Given the description of an element on the screen output the (x, y) to click on. 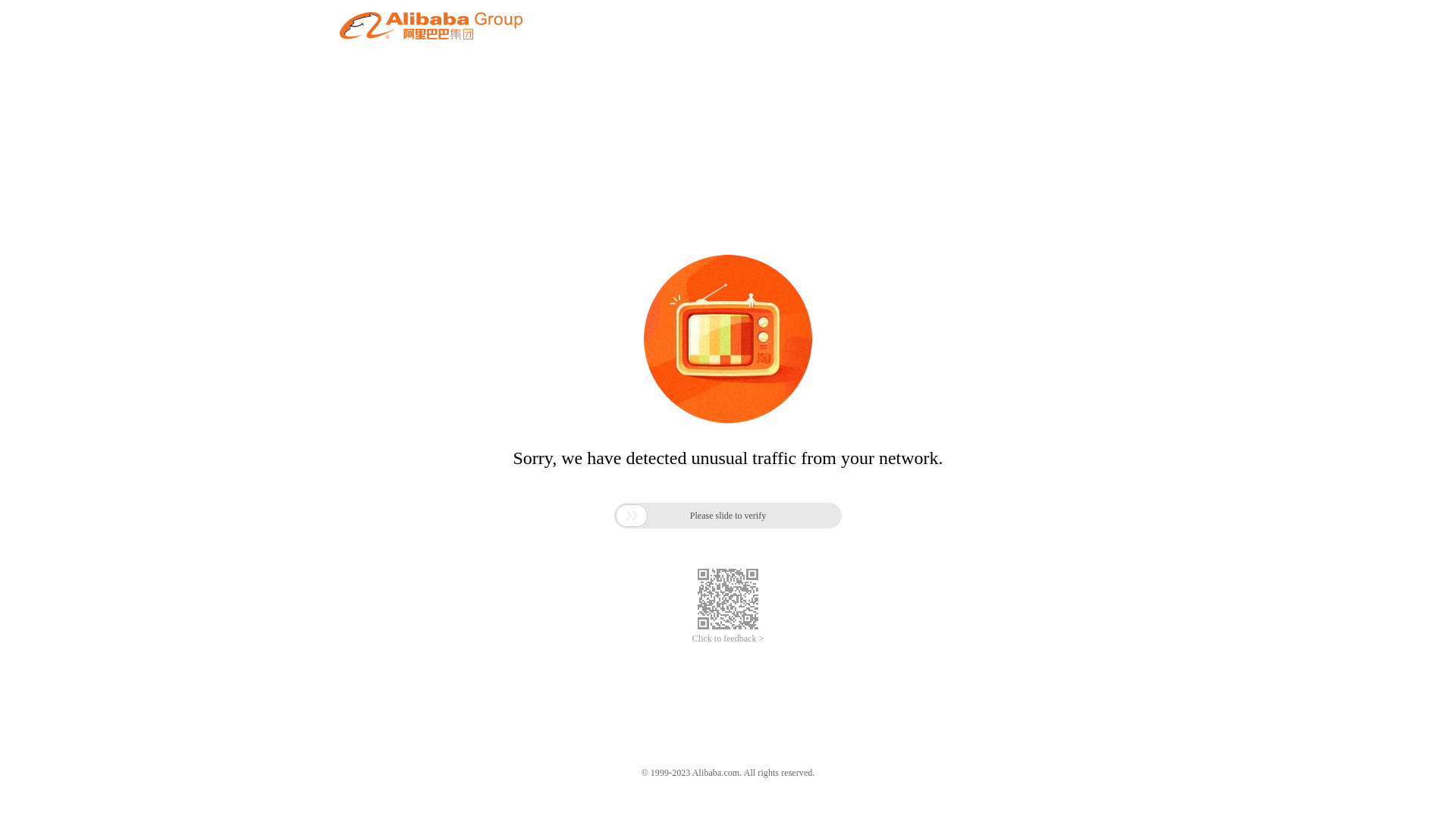
Click to feedback > Element type: text (727, 638)
